Given the description of an element on the screen output the (x, y) to click on. 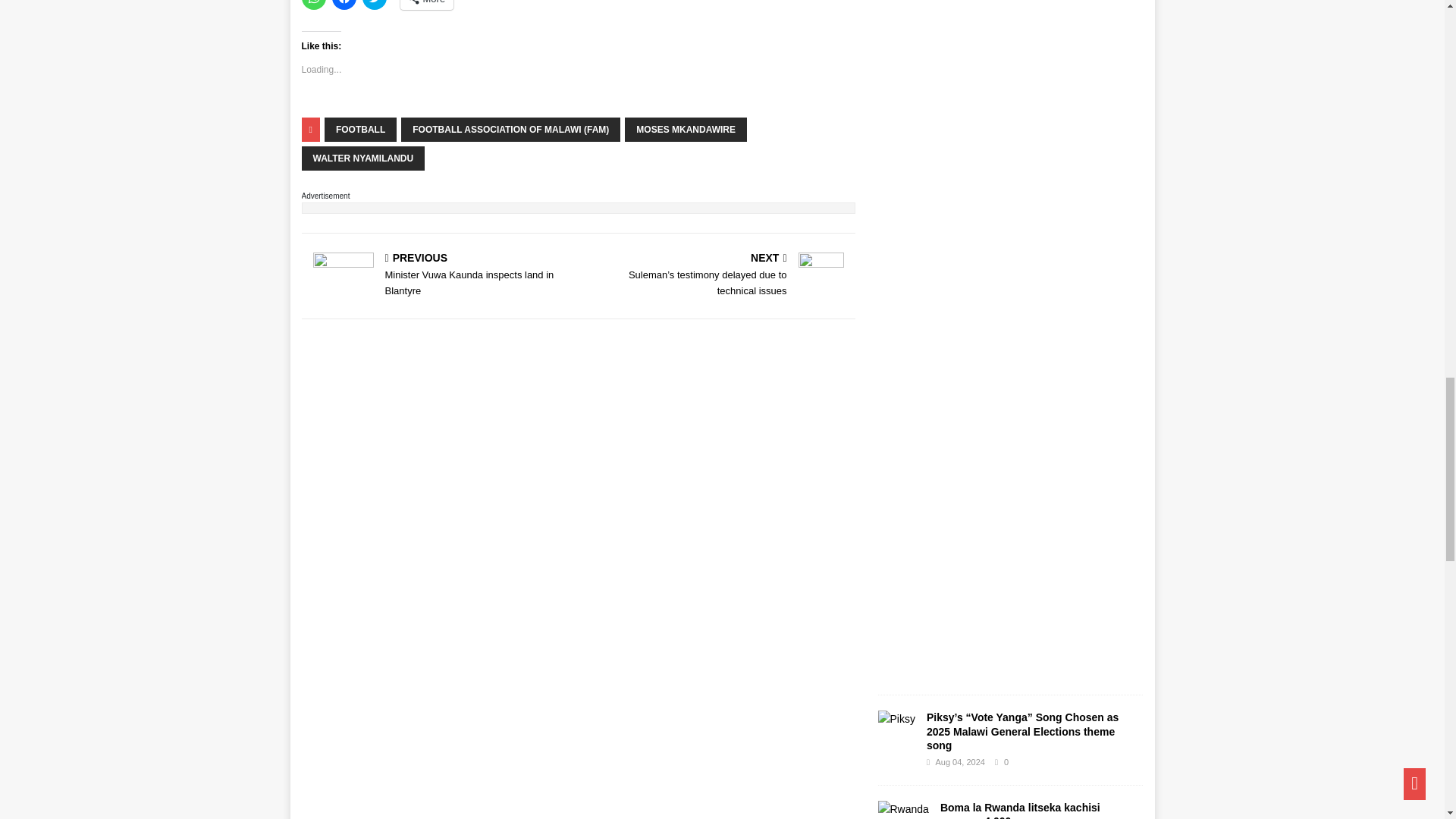
Click to share on Twitter (374, 4)
Click to share on WhatsApp (313, 4)
Click to share on Facebook (343, 4)
